Given the description of an element on the screen output the (x, y) to click on. 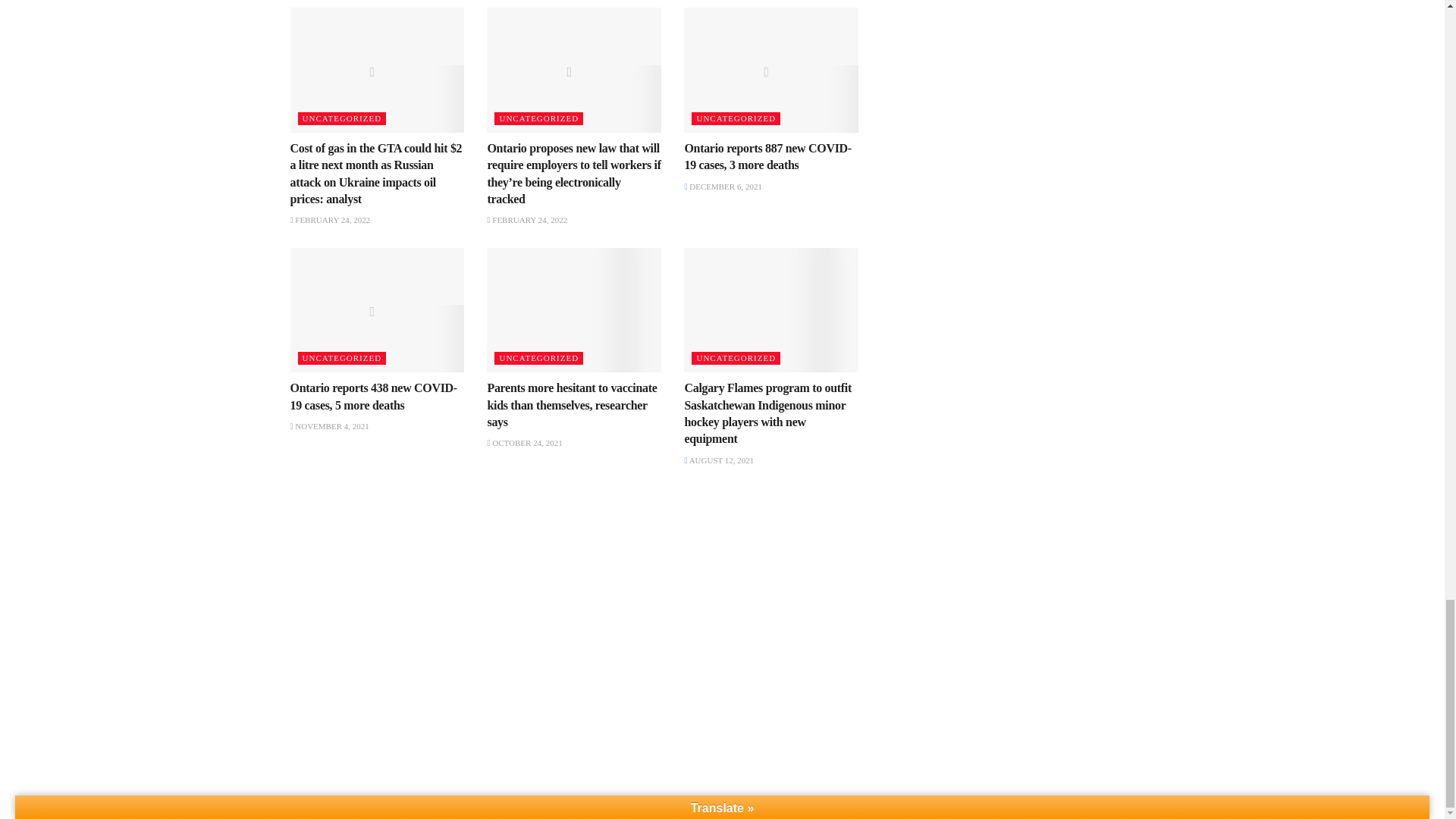
 magazine  (337, 808)
IT. Software and website development company (491, 808)
